Given the description of an element on the screen output the (x, y) to click on. 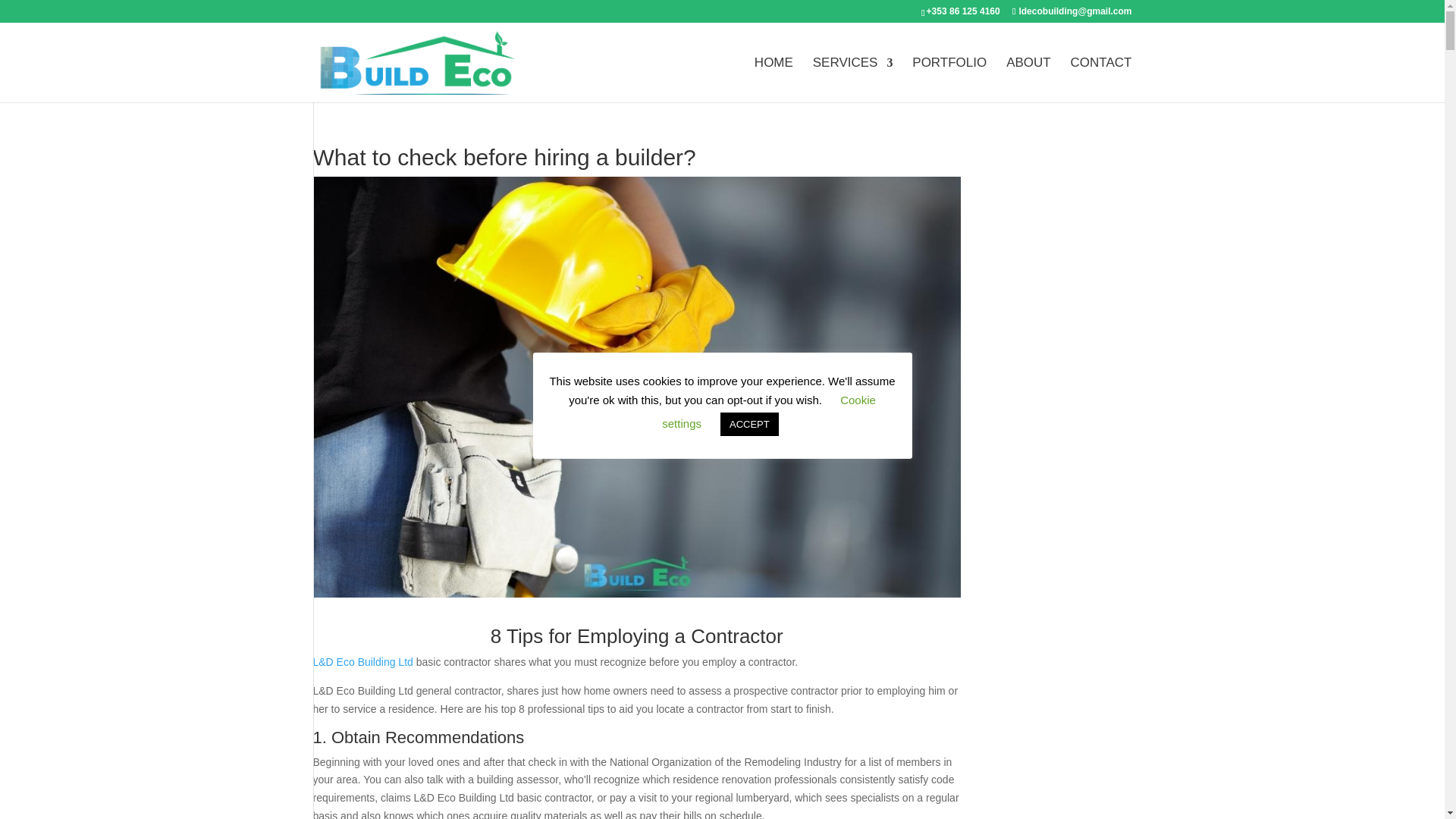
PORTFOLIO (949, 79)
CONTACT (1101, 79)
ABOUT (1028, 79)
SERVICES (852, 79)
